Given the description of an element on the screen output the (x, y) to click on. 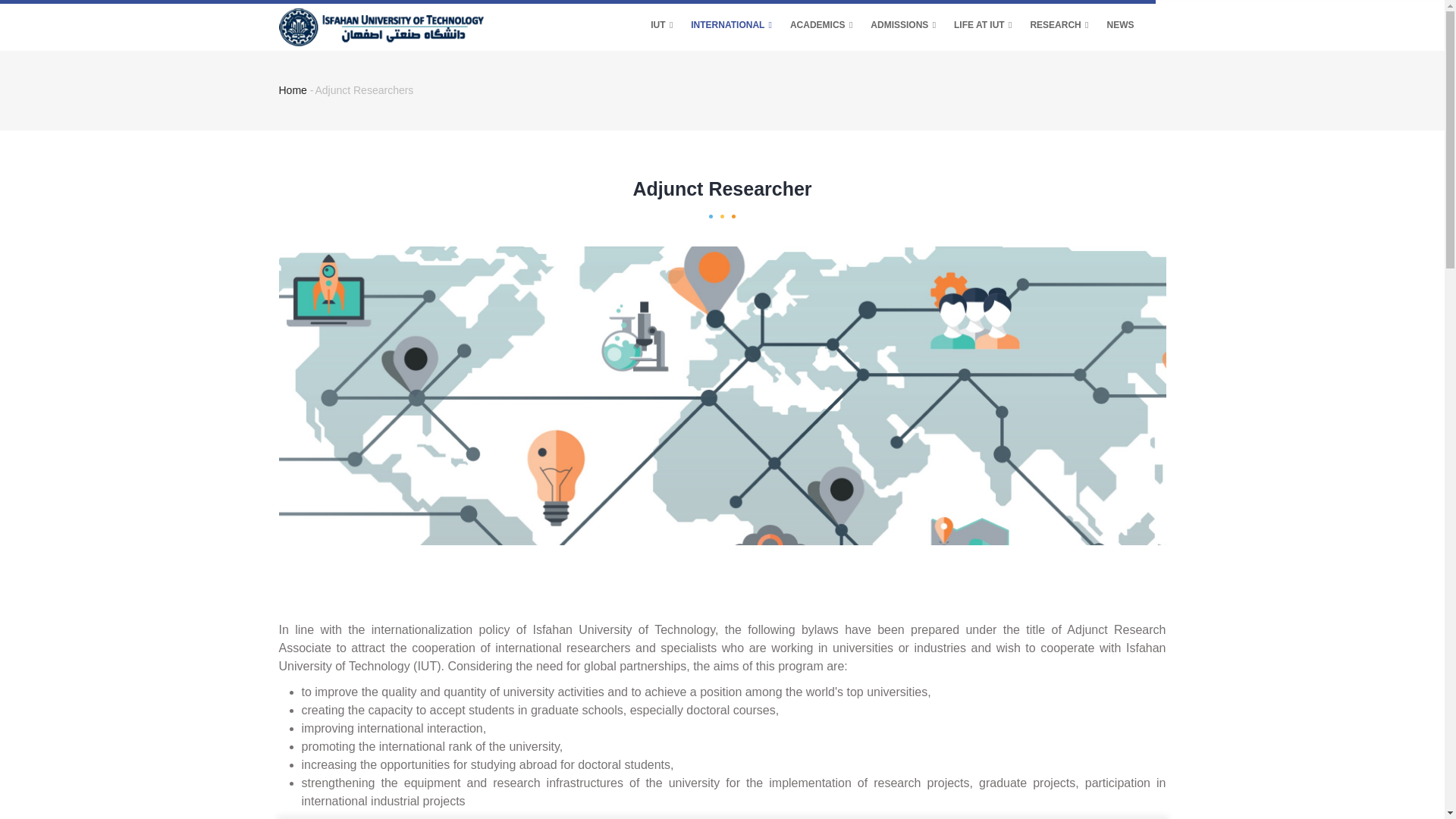
INTERNATIONAL (730, 25)
Home (381, 22)
